Given the description of an element on the screen output the (x, y) to click on. 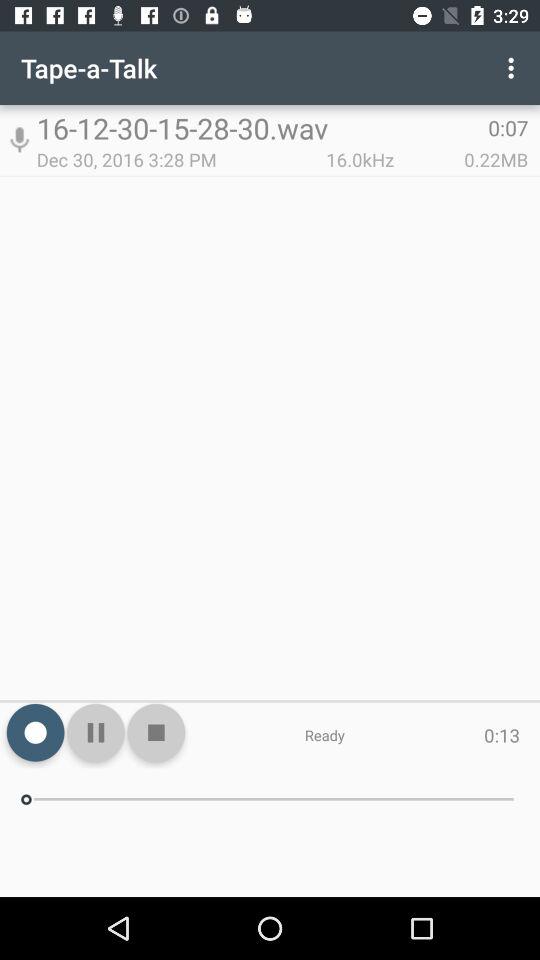
press icon above the 0:07 (513, 67)
